Given the description of an element on the screen output the (x, y) to click on. 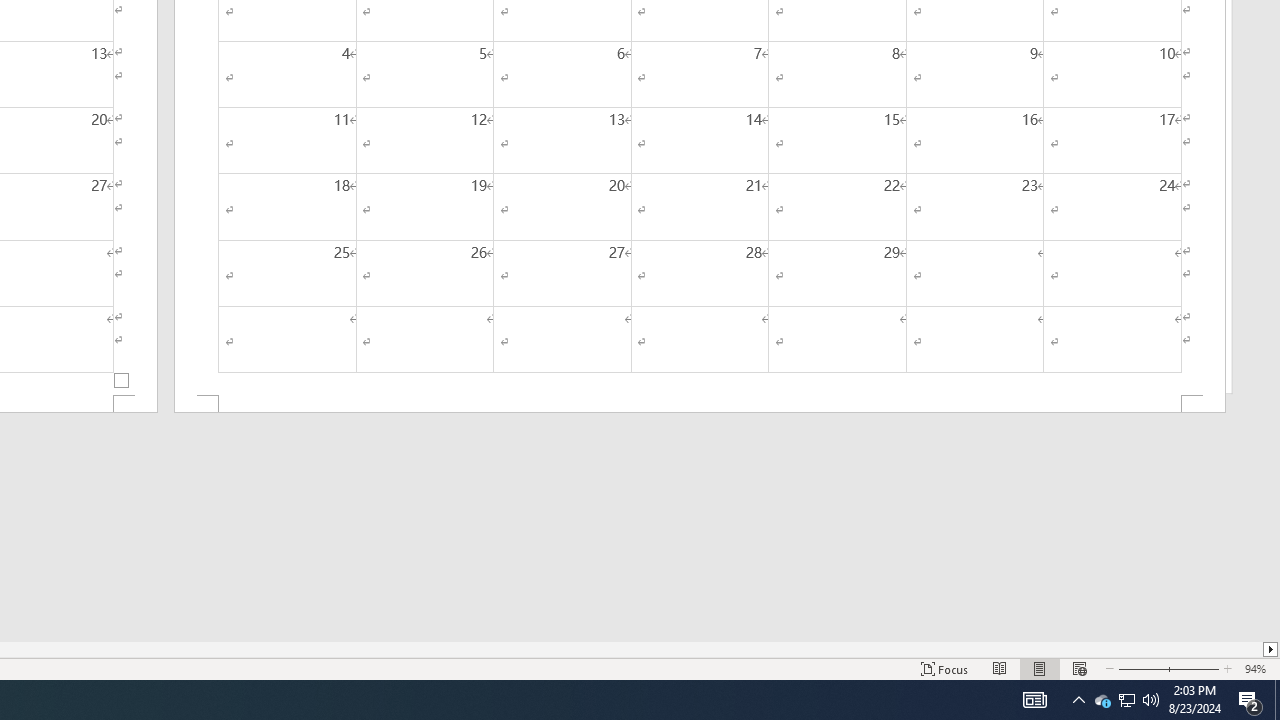
Column right (1271, 649)
Footer -Section 2- (700, 404)
